Given the description of an element on the screen output the (x, y) to click on. 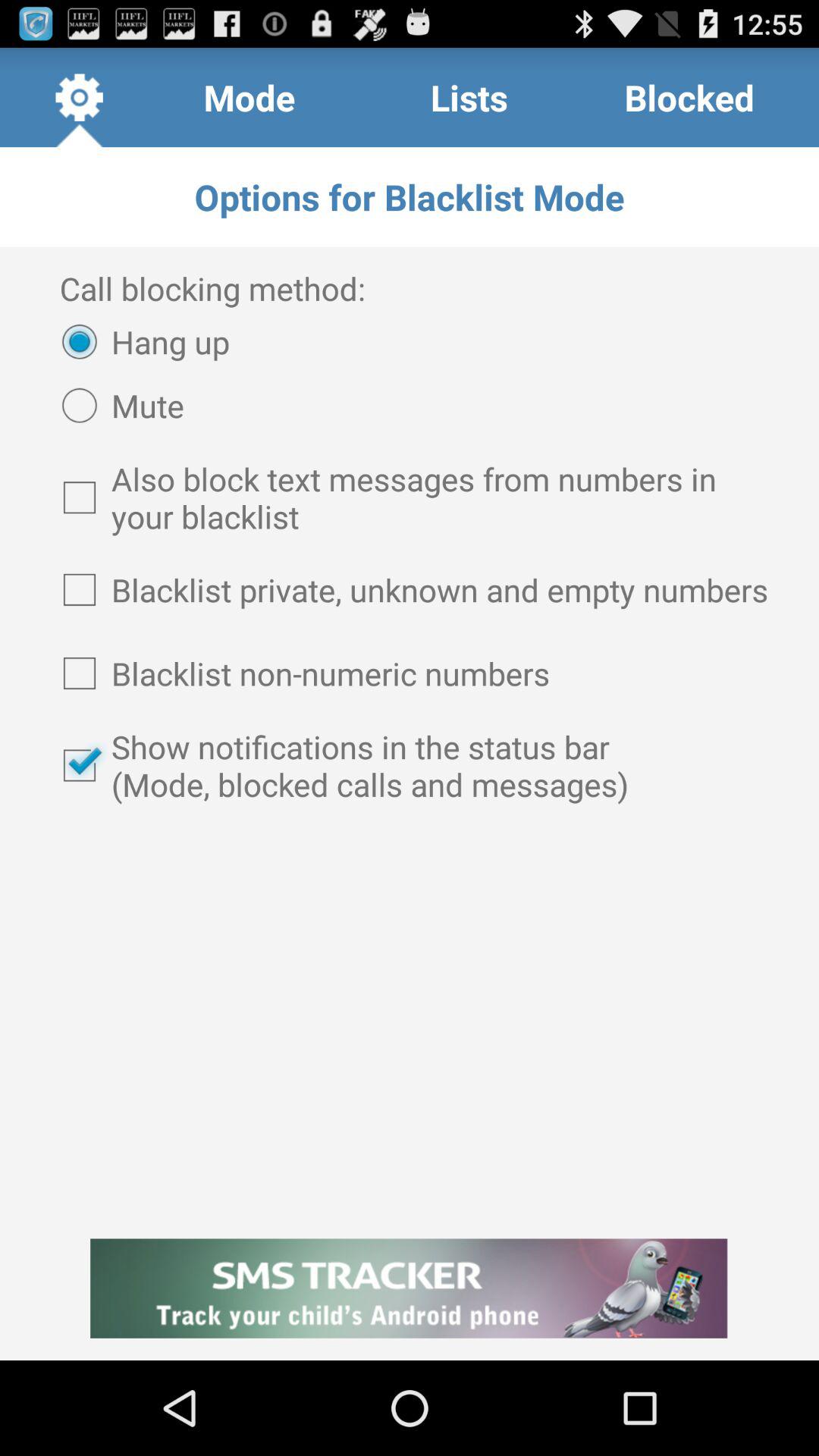
tap checkbox above also block text icon (115, 405)
